Given the description of an element on the screen output the (x, y) to click on. 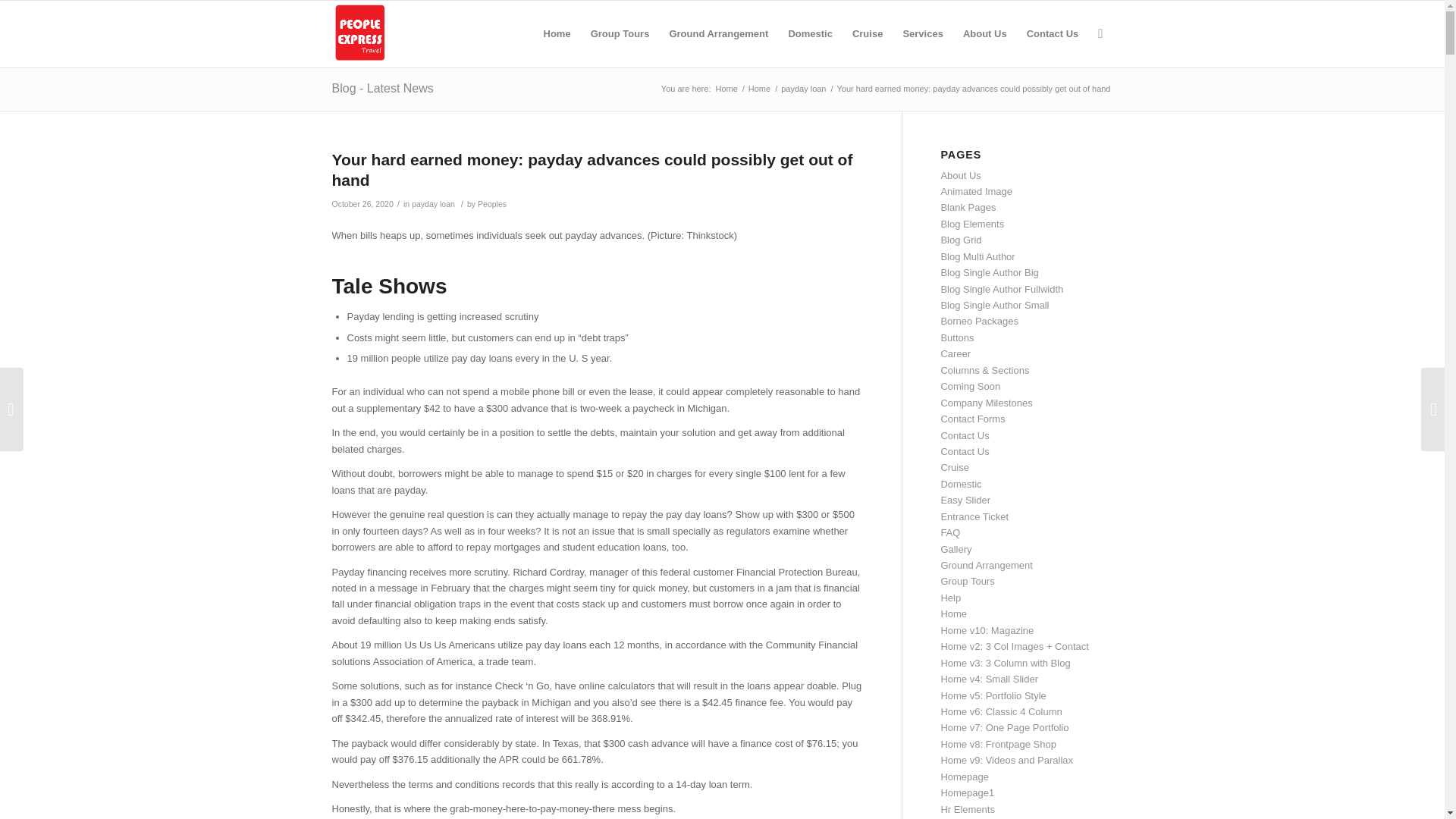
Blog Grid (960, 239)
Blog Multi Author (977, 256)
Blog Single Author Small (994, 305)
Animated Image (975, 191)
Blog - Latest News (382, 88)
Blank Pages (967, 206)
About Us (984, 33)
Borneo Packages (978, 320)
Services (922, 33)
Home (726, 89)
